Given the description of an element on the screen output the (x, y) to click on. 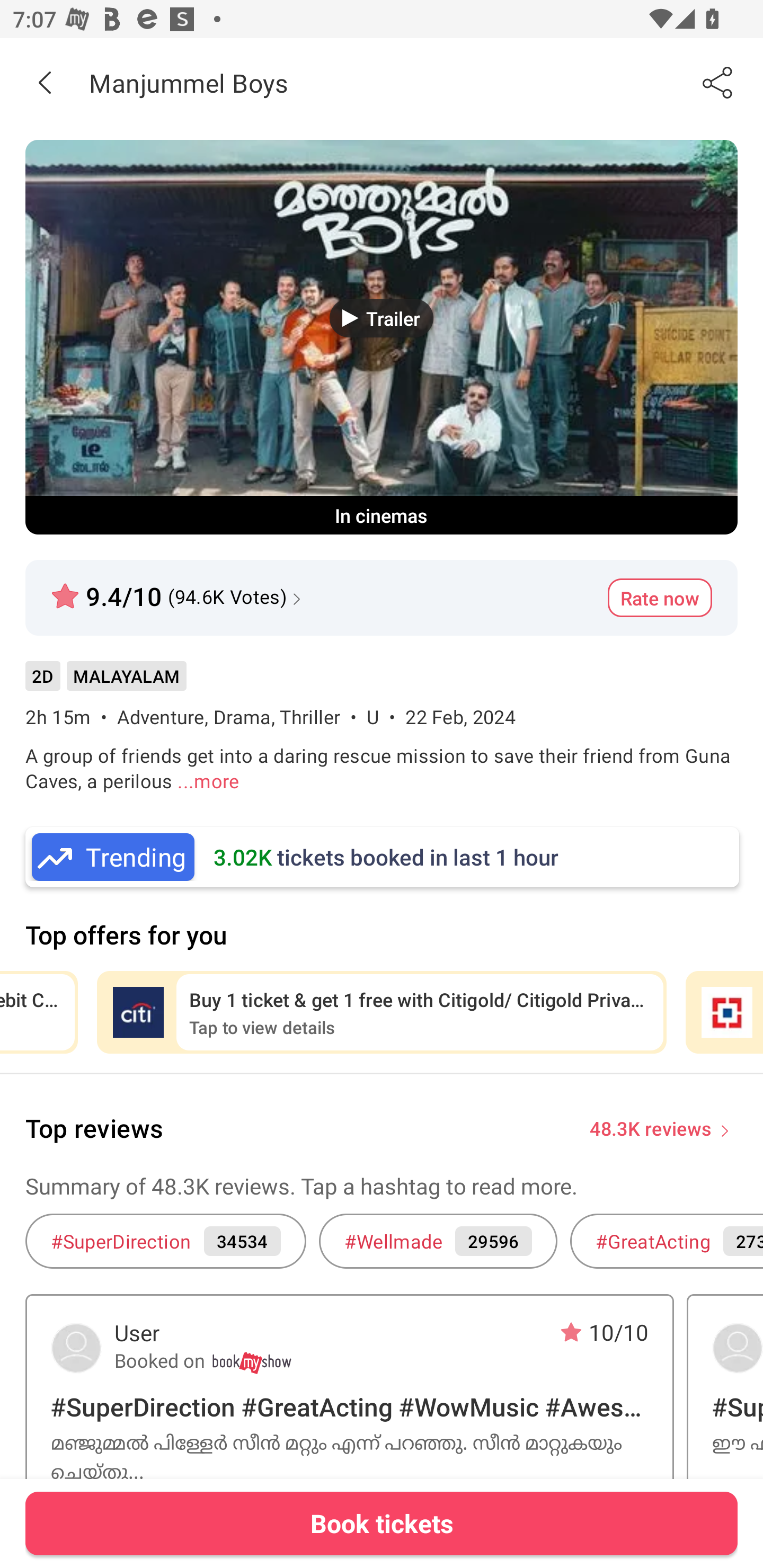
Back (44, 82)
Share (718, 82)
Movie Banner Trailer In cinemas (381, 336)
Trailer (381, 318)
9.4/10 (94.6K Votes) (178, 589)
Rate now (659, 597)
2D MALAYALAM (105, 682)
48.3K reviews (650, 1127)
#SuperDirection 34534 (165, 1240)
#Wellmade 29596 (437, 1240)
#GreatActing 27315 (666, 1240)
Book tickets (381, 1523)
